Given the description of an element on the screen output the (x, y) to click on. 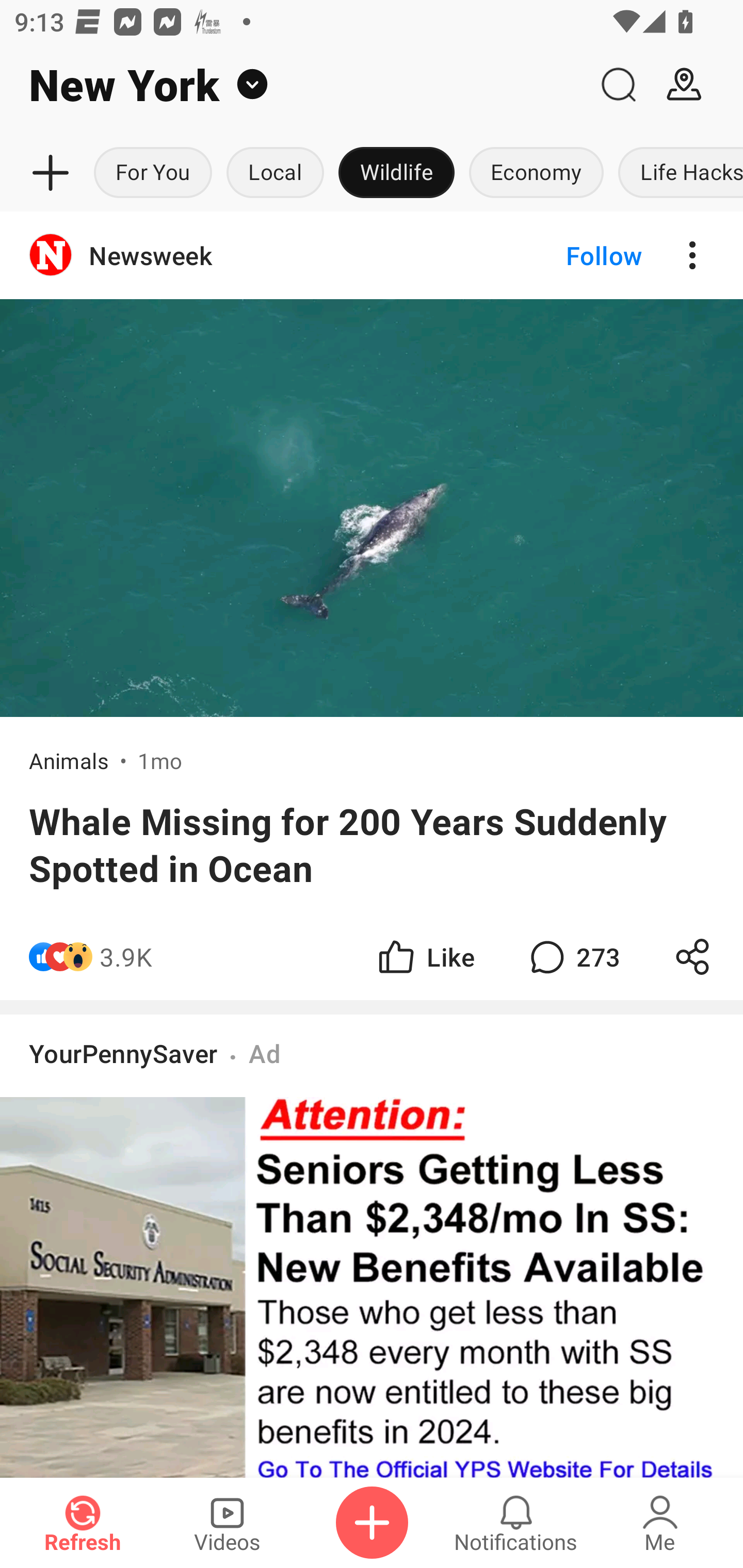
New York (292, 84)
For You (152, 172)
Local (275, 172)
Wildlife (396, 172)
Economy (536, 172)
Life Hacks (676, 172)
Newsweek Follow (371, 255)
Follow (569, 255)
3.9K (125, 957)
Like (425, 957)
273 (572, 957)
YourPennySaver (122, 1053)
Videos (227, 1522)
Notifications (516, 1522)
Me (659, 1522)
